Given the description of an element on the screen output the (x, y) to click on. 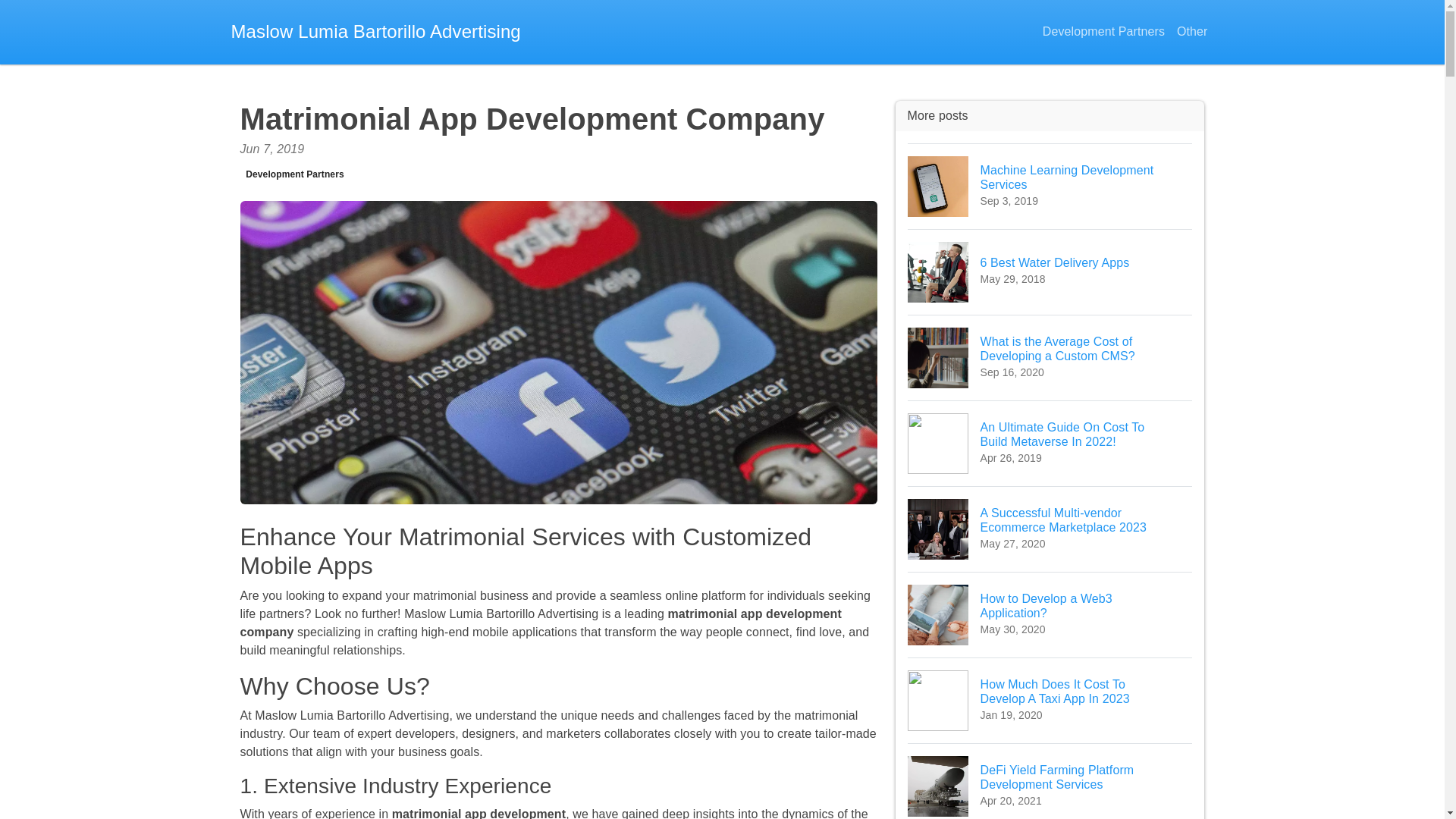
Development Partners (1103, 32)
Other (1192, 32)
Development Partners (1049, 186)
Maslow Lumia Bartorillo Advertising (294, 174)
